Given the description of an element on the screen output the (x, y) to click on. 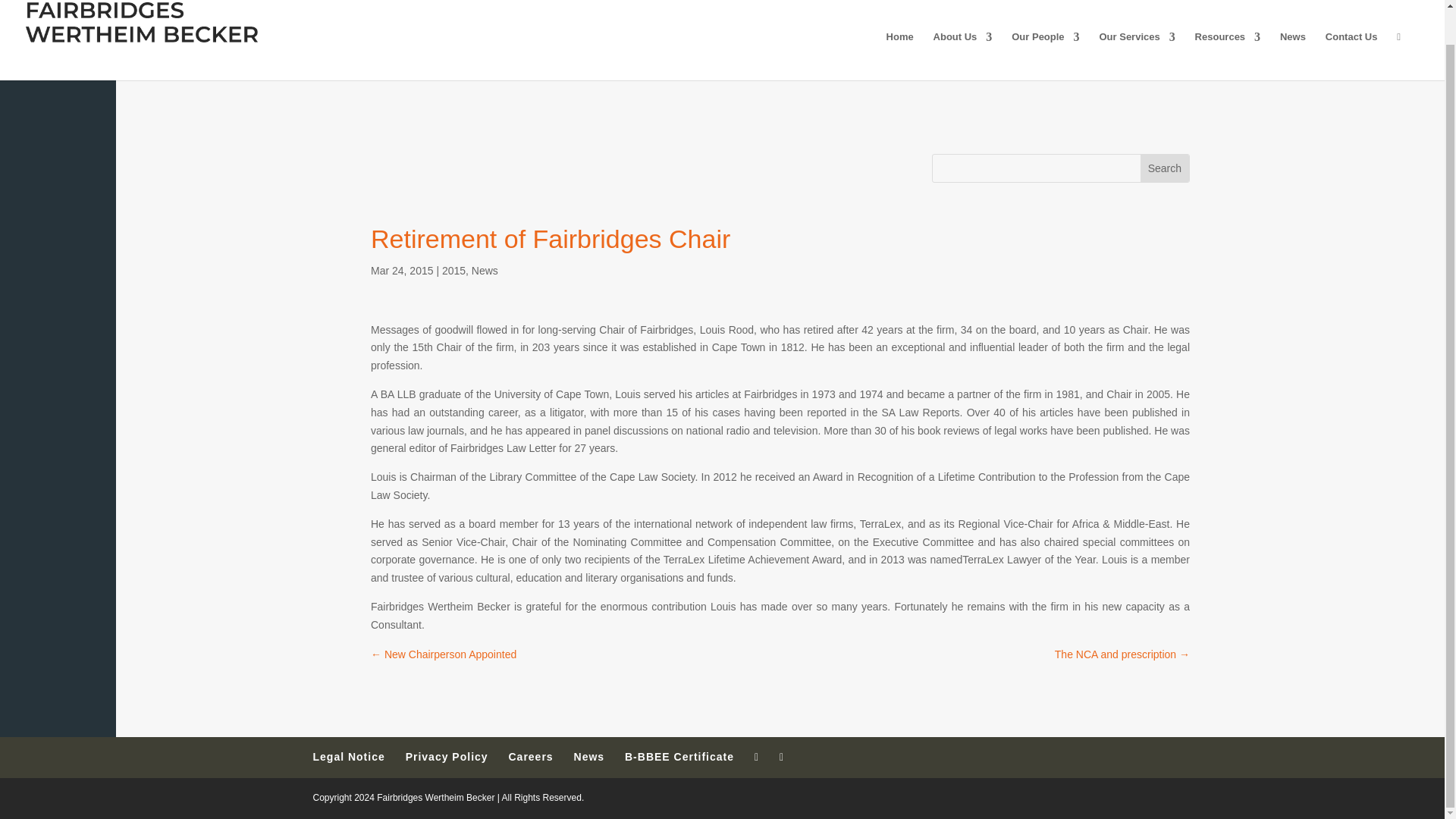
Search (1164, 167)
Search (1164, 167)
Our Services (1136, 55)
Resources (1227, 55)
Our People (1044, 55)
About Us (962, 55)
Contact Us (1350, 55)
